Given the description of an element on the screen output the (x, y) to click on. 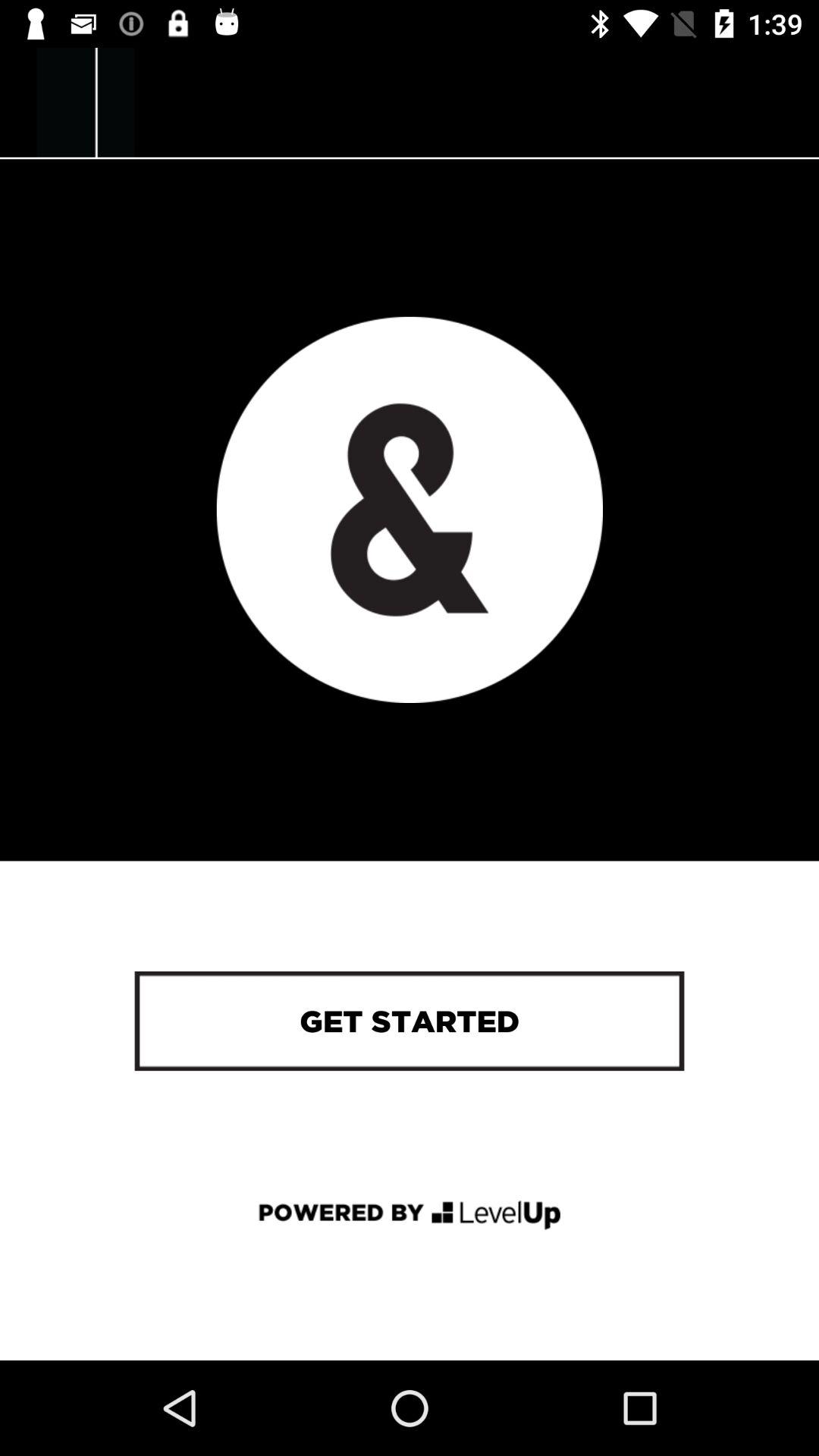
jump to get started icon (409, 1020)
